Given the description of an element on the screen output the (x, y) to click on. 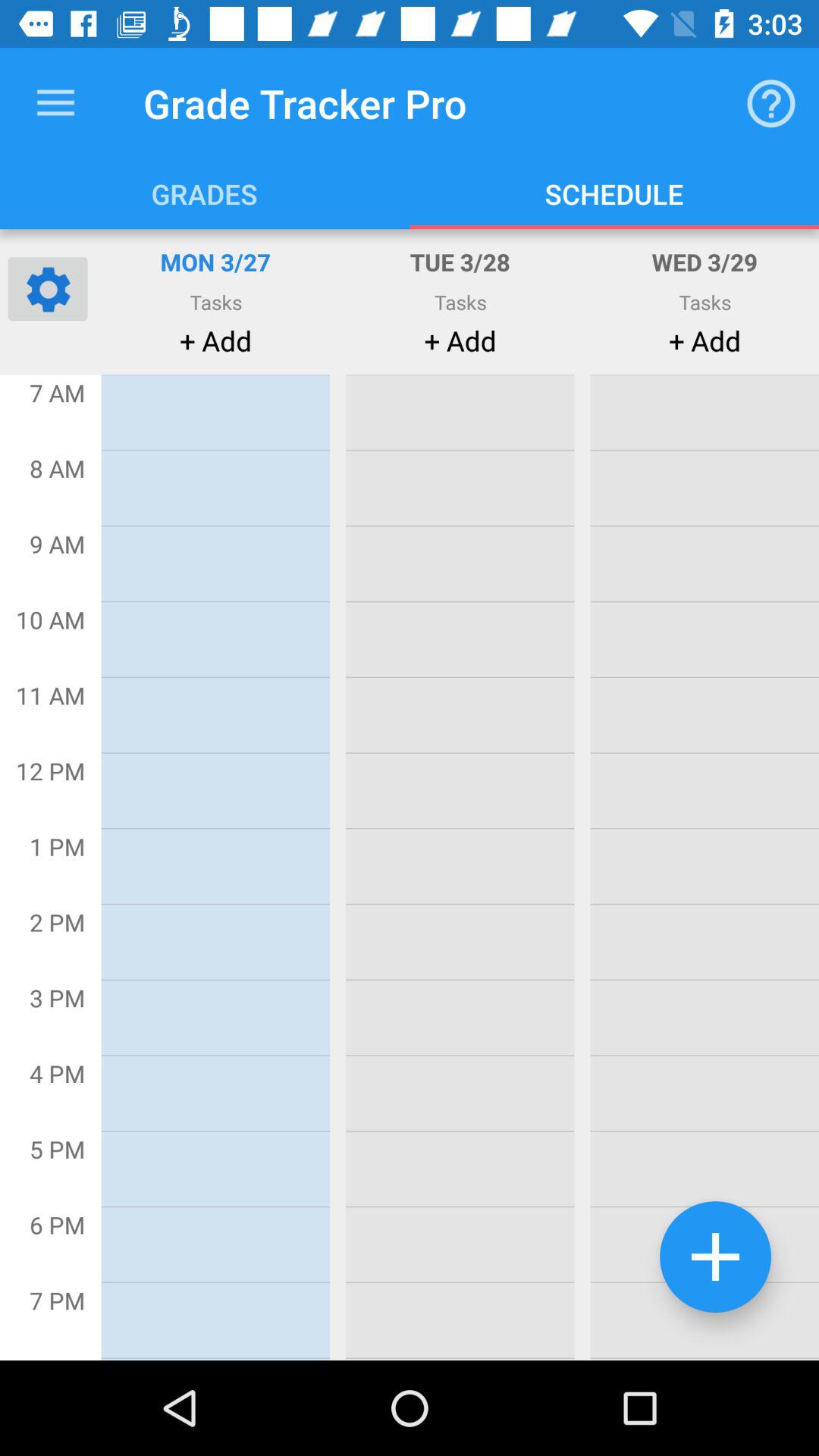
press item next to grade tracker pro item (55, 103)
